Given the description of an element on the screen output the (x, y) to click on. 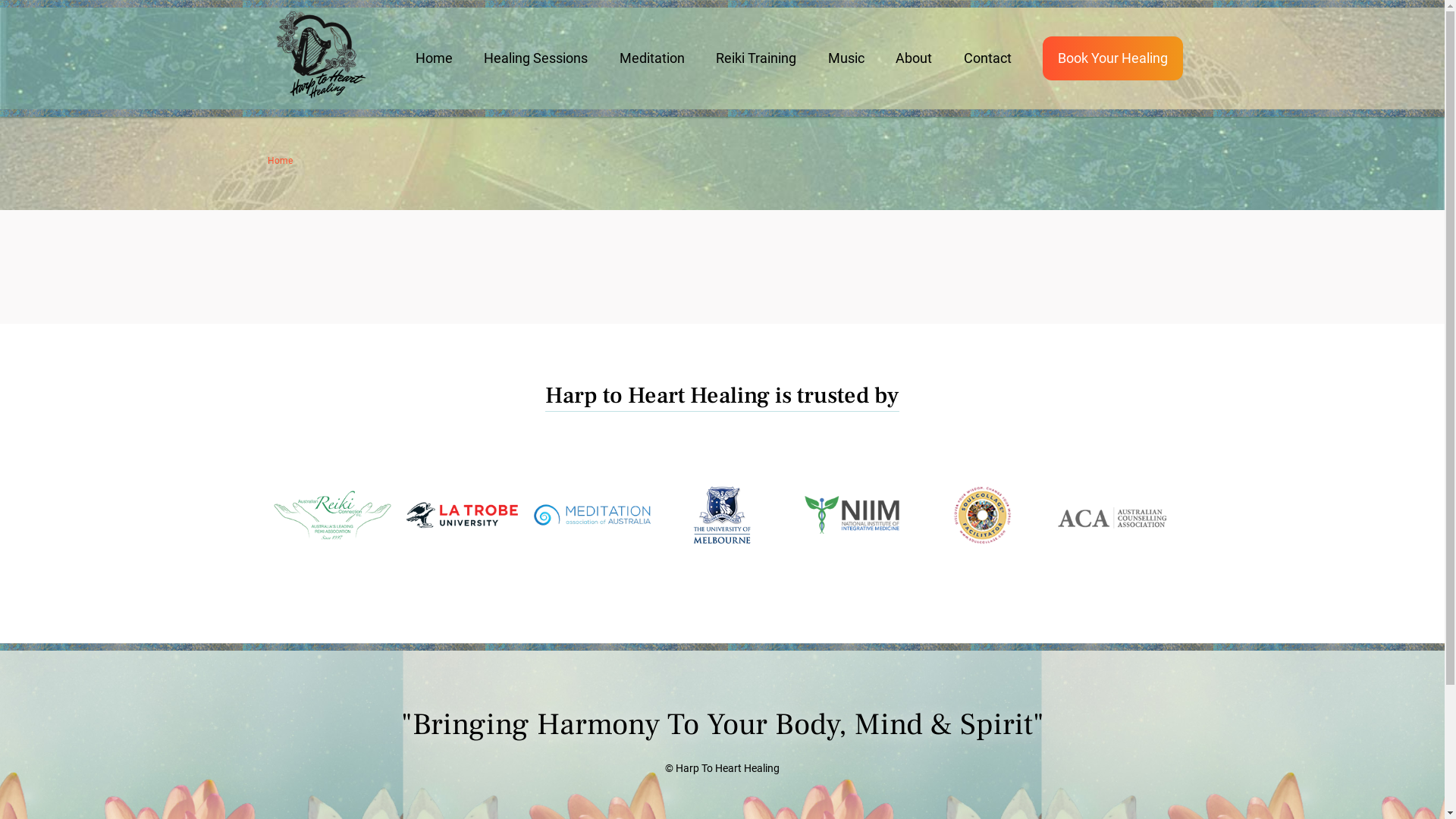
Music Element type: text (846, 58)
Contact Element type: text (986, 58)
About Element type: text (913, 58)
Book Your Healing Element type: text (1112, 58)
Home Element type: text (433, 58)
Healing Sessions Element type: text (535, 58)
Meditation Element type: text (651, 58)
Reiki Training Element type: text (755, 58)
Home Element type: text (278, 160)
